Given the description of an element on the screen output the (x, y) to click on. 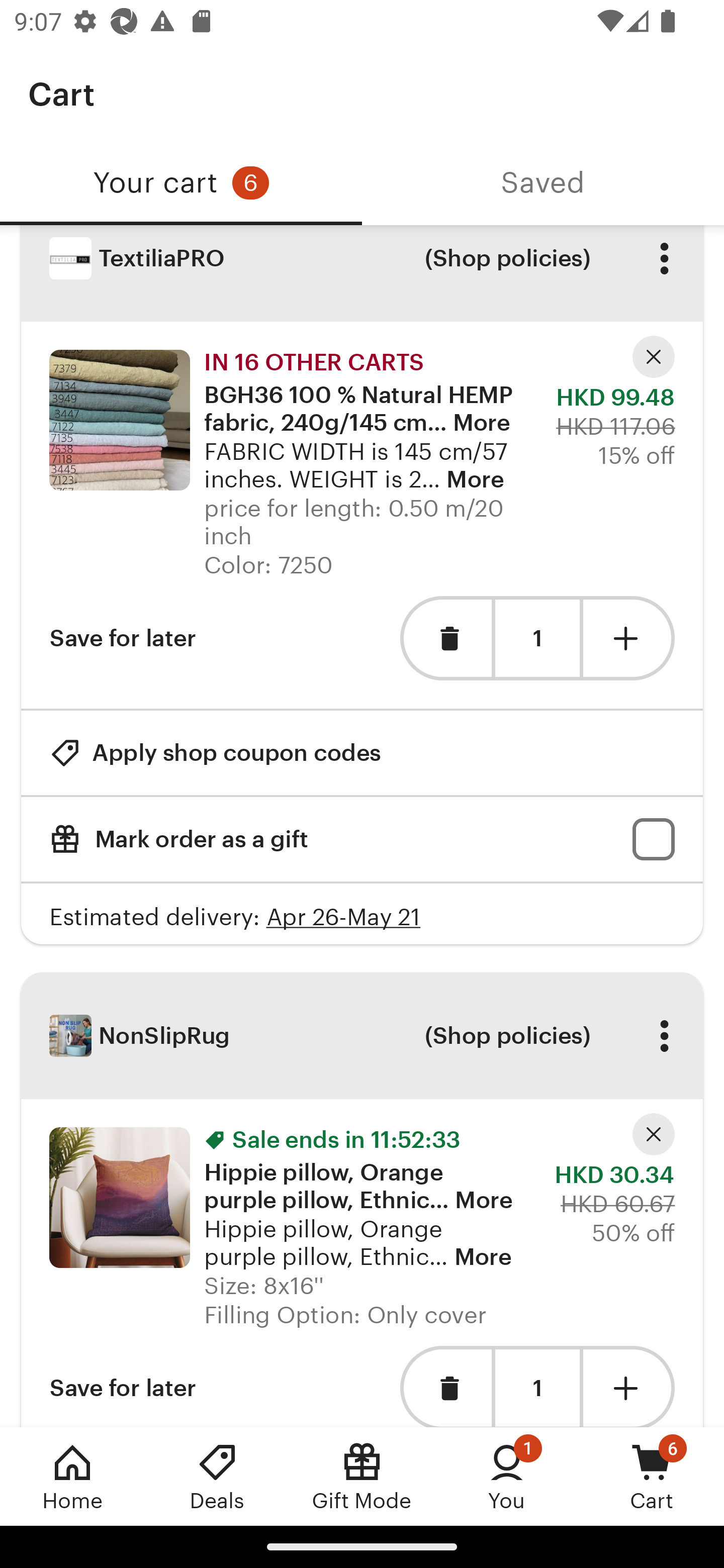
Saved, tab 2 of 2 Saved (543, 183)
TextiliaPRO (Shop policies) More options (361, 273)
(Shop policies) (507, 263)
More options (663, 263)
Save for later (122, 637)
Remove item from cart (445, 637)
Add one unit to cart (628, 637)
1 (537, 637)
Apply shop coupon codes (215, 752)
Mark order as a gift (361, 838)
NonSlipRug (Shop policies) More options (361, 1035)
(Shop policies) (507, 1036)
More options (663, 1036)
Save for later (122, 1385)
Remove item from cart (445, 1385)
Add one unit to cart (628, 1385)
1 (537, 1386)
Home (72, 1475)
Deals (216, 1475)
Gift Mode (361, 1475)
You, 1 new notification You (506, 1475)
